Given the description of an element on the screen output the (x, y) to click on. 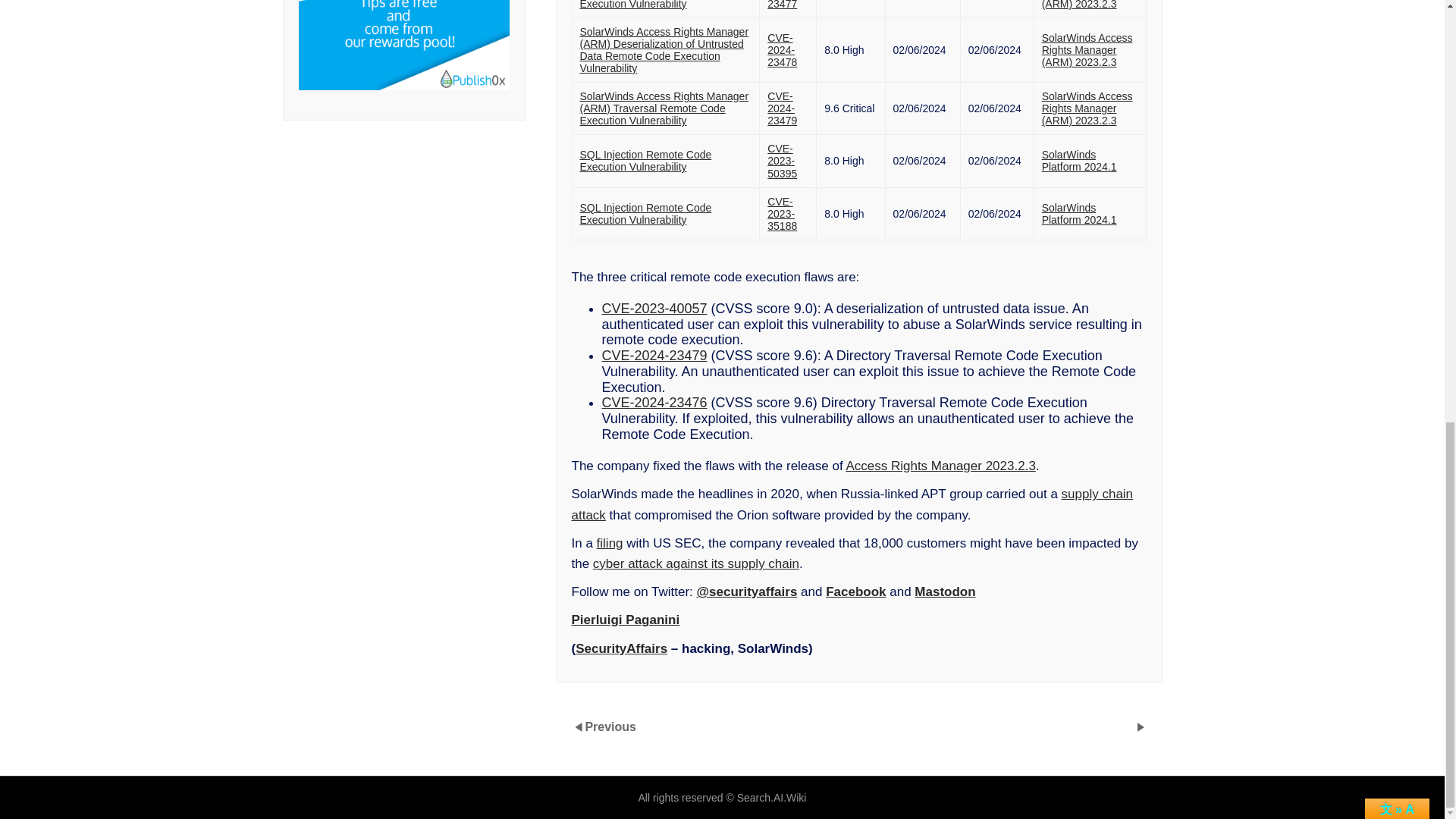
CVE-2024-23477 (782, 5)
SQL Injection Remote Code Execution Vulnerability (645, 213)
SQL Injection Remote Code Execution Vulnerability (645, 160)
SolarWinds Platform 2024.1 (1079, 160)
SolarWinds Platform 2024.1 (1079, 213)
